Given the description of an element on the screen output the (x, y) to click on. 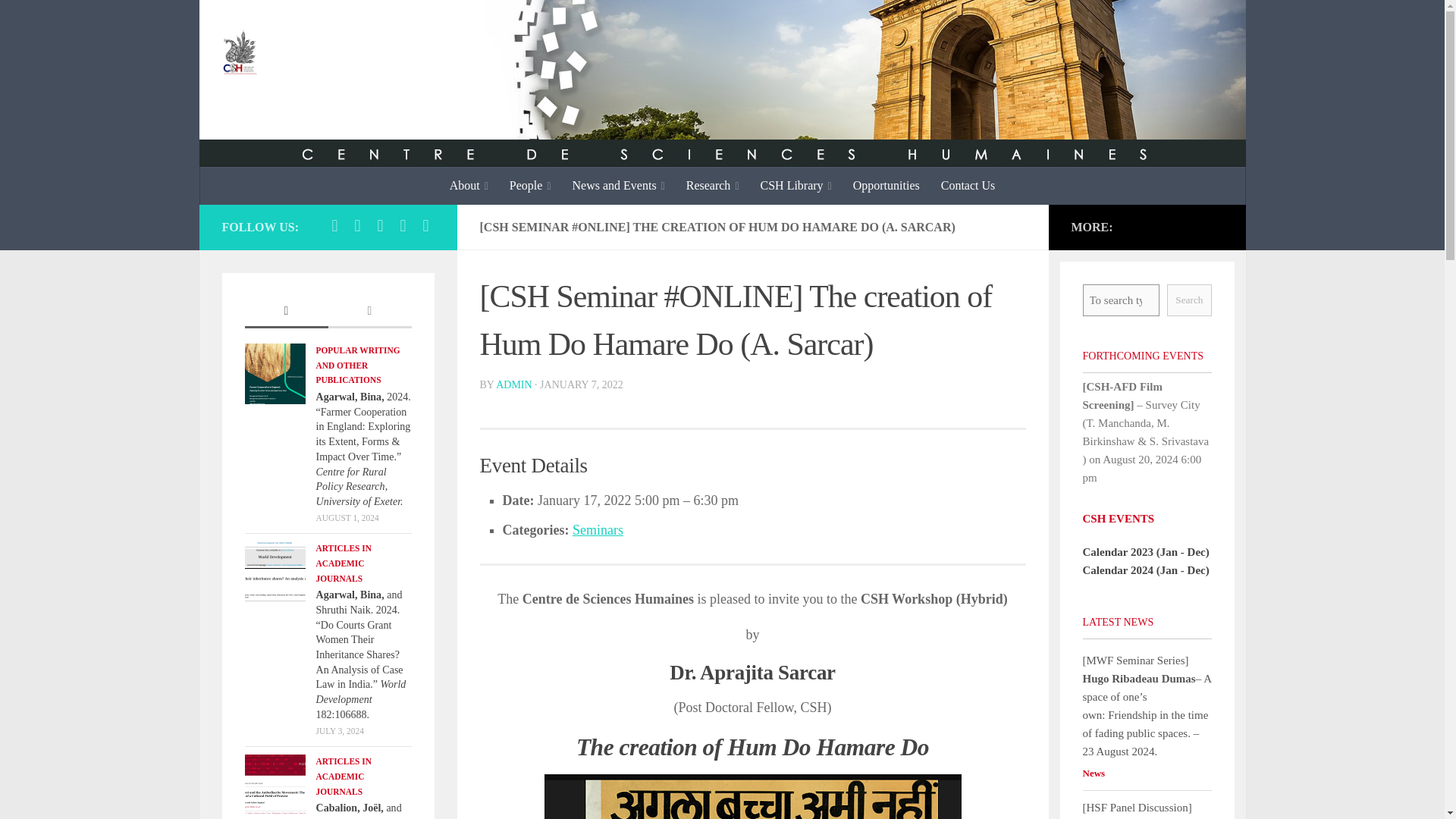
Follow us on Twitter (357, 225)
Posts by admin (513, 384)
Follow us on Youtube (402, 225)
Follow us on Facebook (334, 225)
Follow us on Instagram (379, 225)
Skip to content (59, 20)
Follow us on Linkedin (424, 225)
Recent Posts (285, 311)
